Given the description of an element on the screen output the (x, y) to click on. 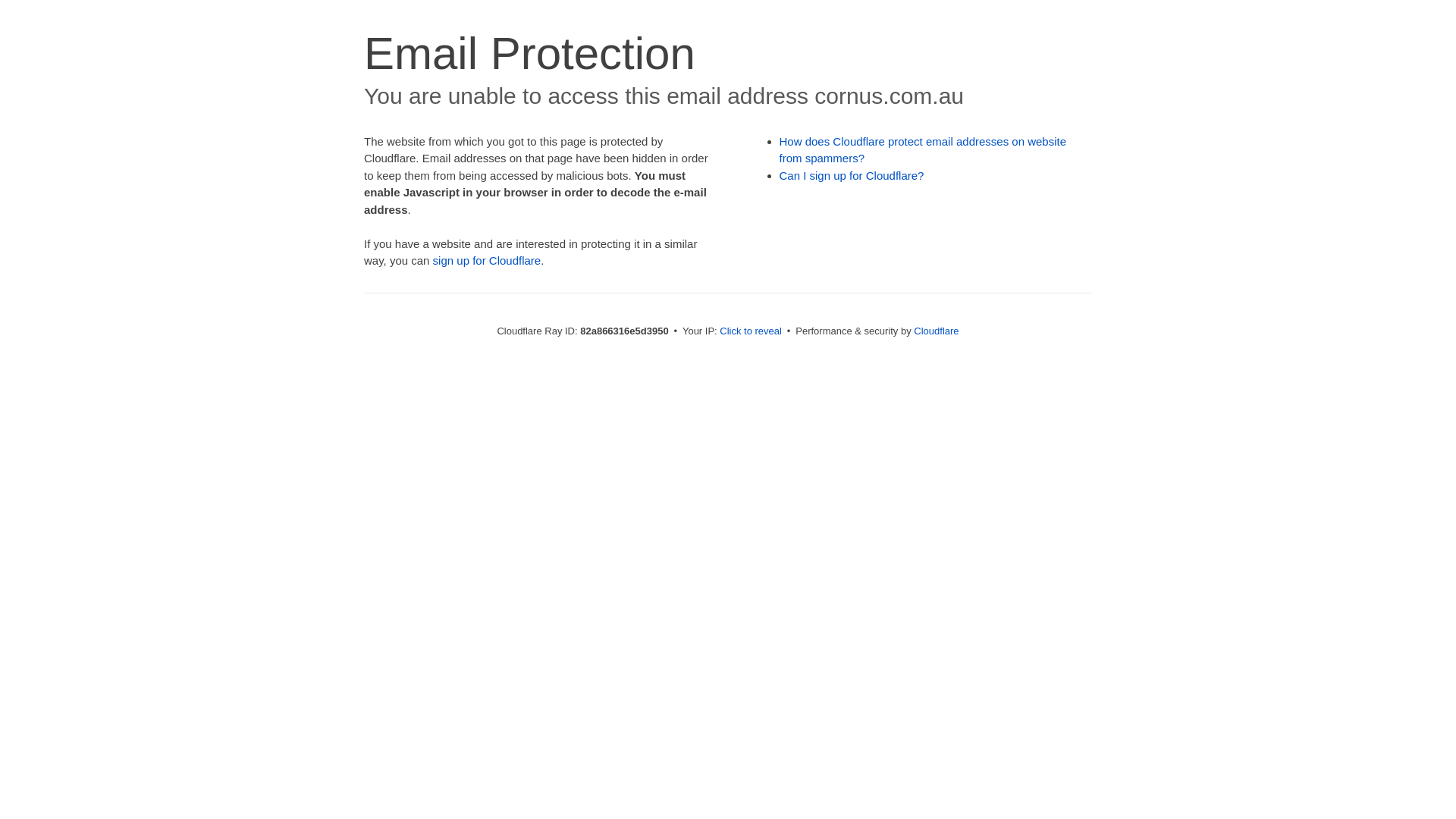
Click to reveal Element type: text (750, 330)
Can I sign up for Cloudflare? Element type: text (851, 175)
sign up for Cloudflare Element type: text (487, 260)
Cloudflare Element type: text (935, 330)
